Given the description of an element on the screen output the (x, y) to click on. 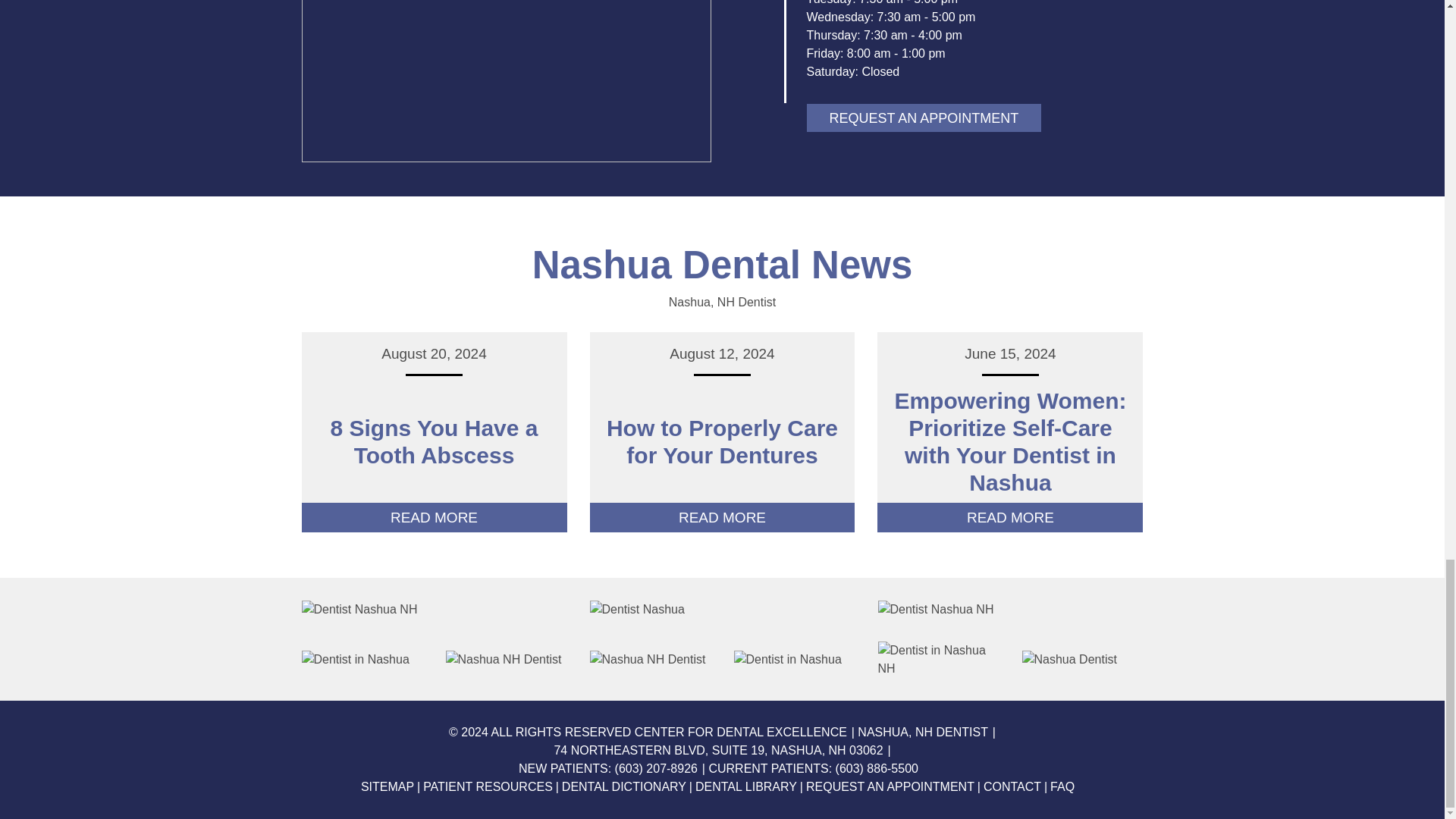
Read more about How to Properly Care for Your Dentures (722, 444)
Read more about 8 Signs You Have a Tooth Abscess (434, 444)
